Given the description of an element on the screen output the (x, y) to click on. 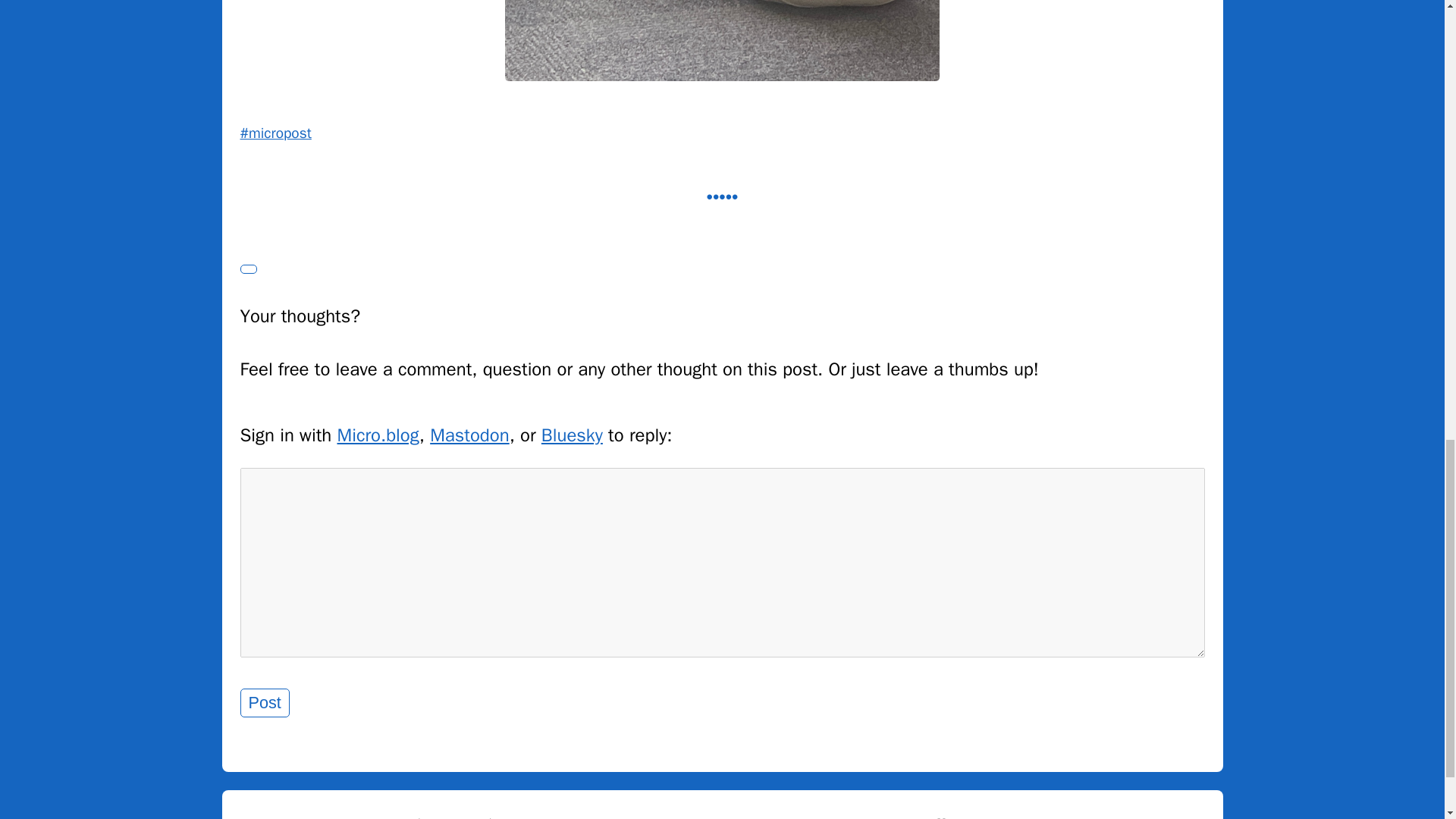
Bluesky (571, 435)
Post (264, 702)
Micro.blog (377, 435)
Post (264, 702)
Mastodon (468, 435)
